Given the description of an element on the screen output the (x, y) to click on. 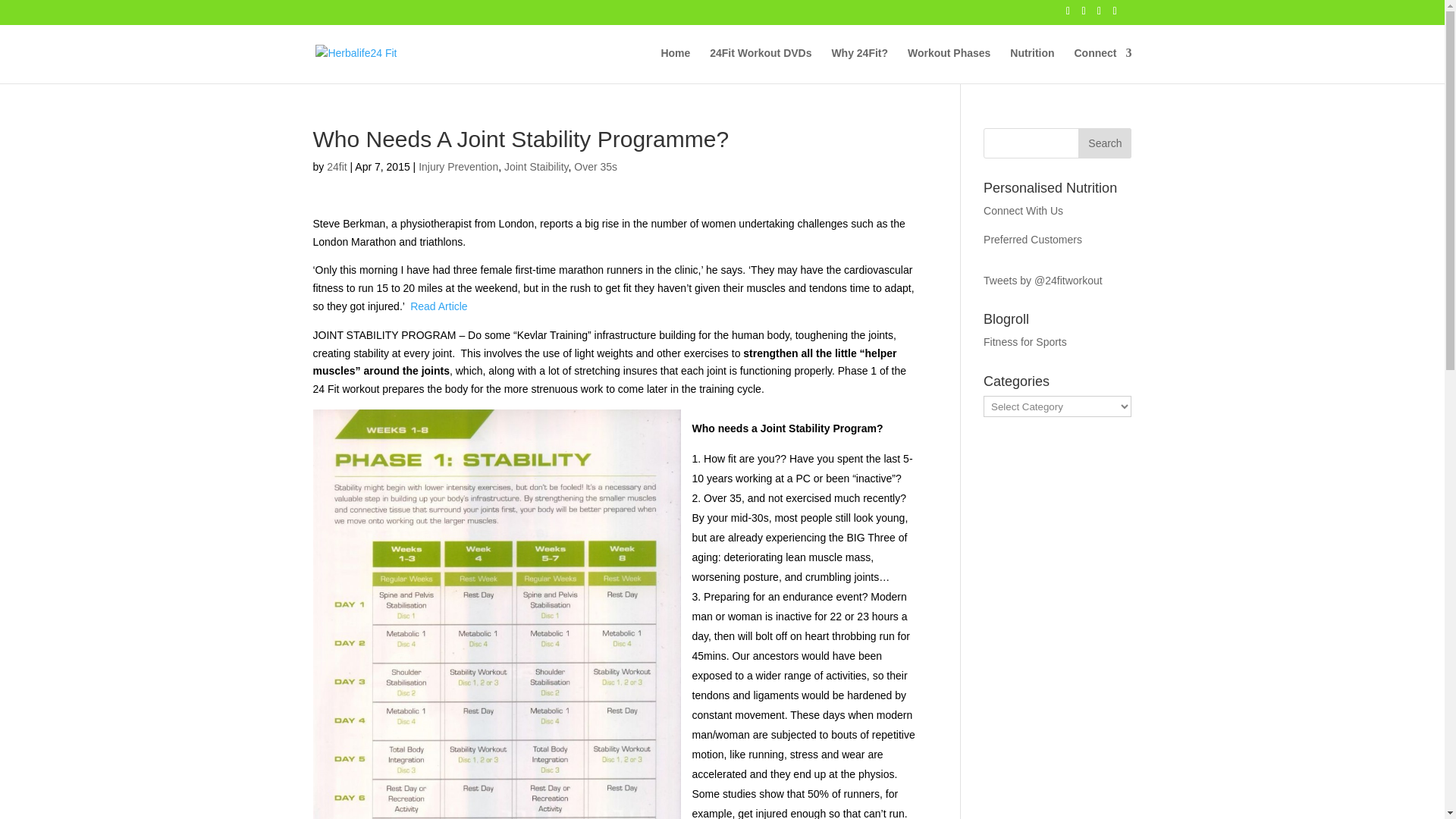
Joint Staibility (536, 166)
Search (1104, 142)
Connect With Us (1023, 210)
Preferred Customers (1032, 239)
Posts by 24fit (336, 166)
Why 24Fit? (859, 65)
Read Article (438, 306)
Fitness for Sports (1025, 341)
Injury Prevention (458, 166)
Over 35s (595, 166)
Search (1104, 142)
Workout Phases (948, 65)
24Fit Workout DVDs (760, 65)
24fit (336, 166)
Nutrition (1032, 65)
